Given the description of an element on the screen output the (x, y) to click on. 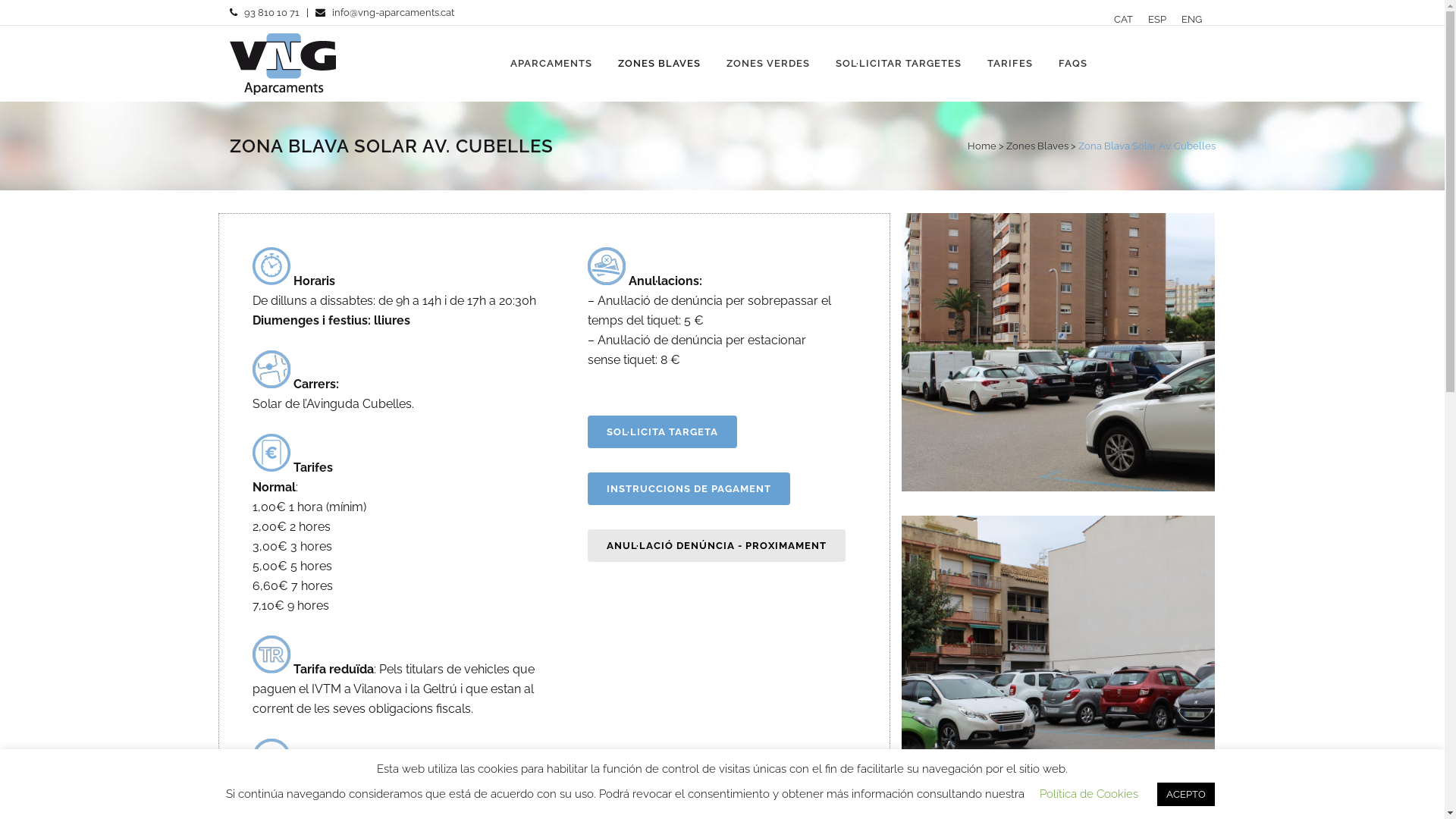
INSTRUCCIONS DE PAGAMENT Element type: text (688, 488)
Instruccions de pagament Element type: text (603, 647)
vng.aparcaments Element type: text (1049, 728)
CAT Element type: text (1122, 18)
Contacte Element type: text (850, 648)
93 810 10 71 Element type: text (271, 12)
Descarregar app Element type: text (603, 571)
FAQS Element type: text (1071, 63)
ESP Element type: text (1156, 18)
Veure tarifes Element type: text (603, 541)
ZONES BLAVES Element type: text (659, 63)
ACEPTO Element type: text (1185, 794)
Qui som Element type: text (346, 541)
ZONES VERDES Element type: text (767, 63)
ENG Element type: text (1191, 18)
FAQS Element type: text (850, 618)
Recursos humans Element type: text (346, 630)
Perfil del contractant Element type: text (346, 601)
APARCAMENTS Element type: text (551, 63)
Zones Blaves Element type: text (850, 539)
Zones Blaves Element type: text (1036, 145)
info@vng-aparcaments.cat Element type: text (393, 12)
Aparcaments Element type: text (850, 510)
TARIFES Element type: text (1008, 63)
Home Element type: text (981, 145)
Bustia de sugeriments Element type: text (346, 689)
Zones Verdes Element type: text (850, 569)
